Given the description of an element on the screen output the (x, y) to click on. 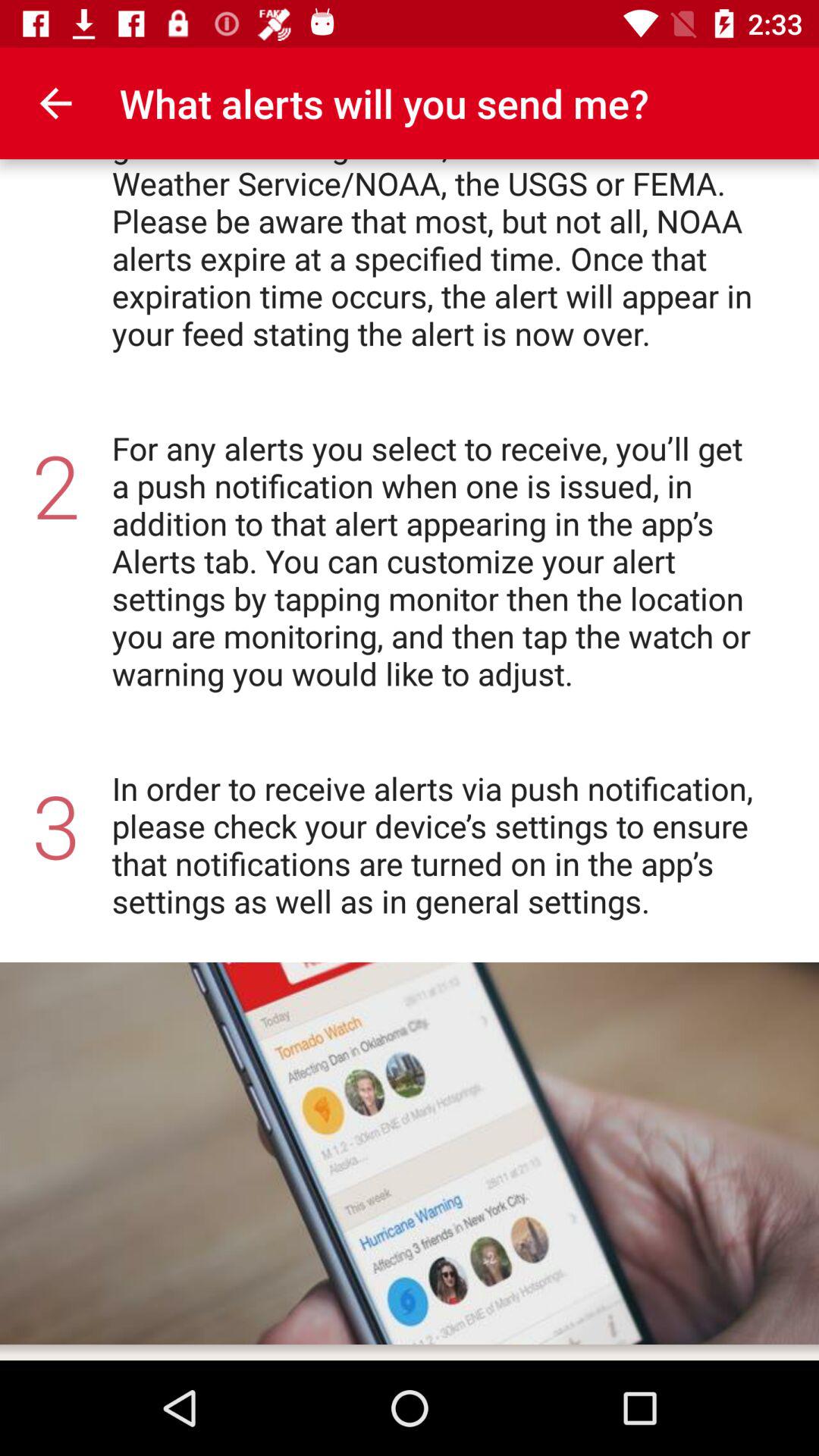
click item next to the for each location icon (55, 103)
